Given the description of an element on the screen output the (x, y) to click on. 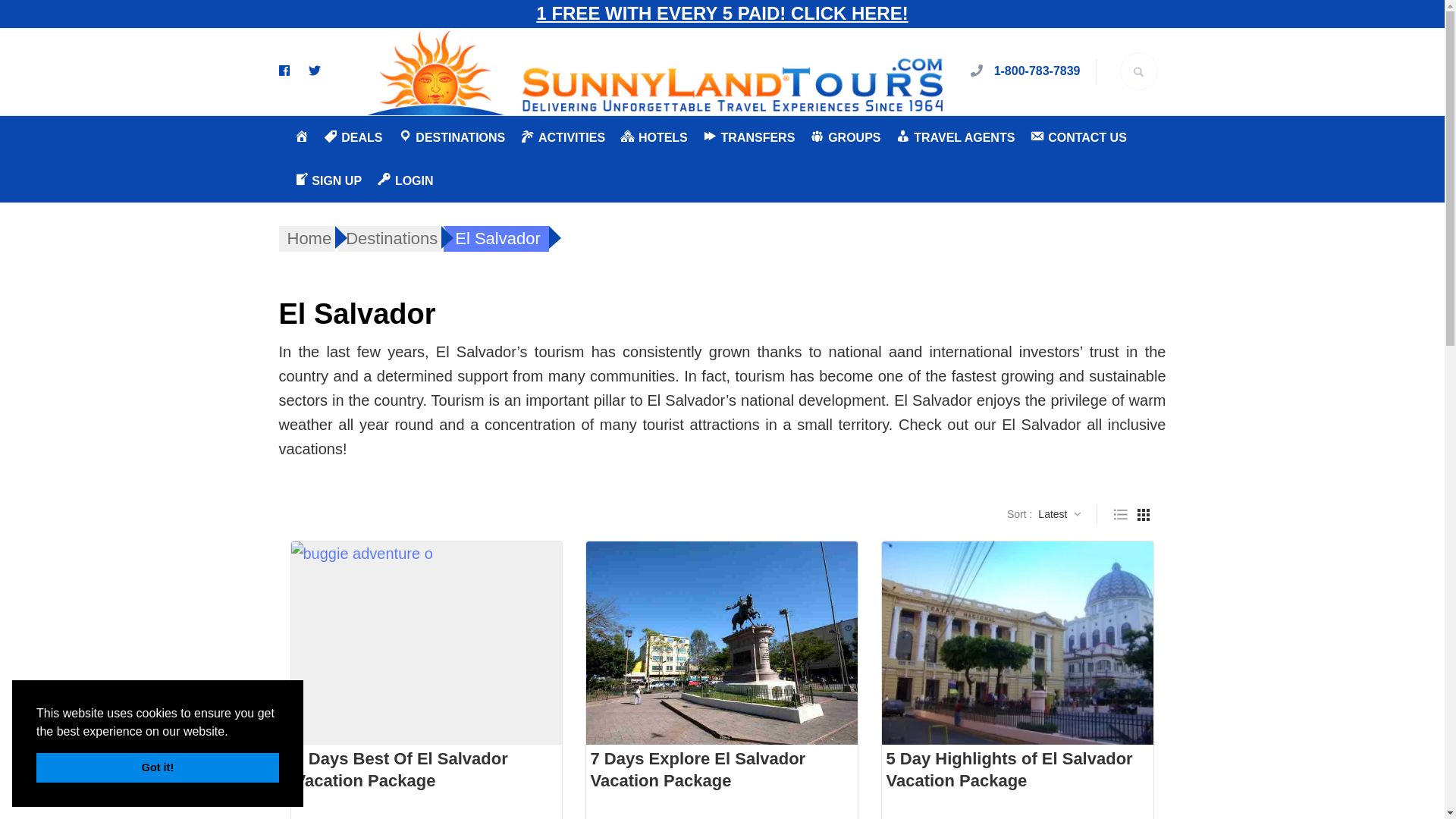
TRANSFERS (748, 137)
Got it! (157, 767)
El Salvador (496, 238)
1-800-783-7839 (1037, 70)
DESTINATIONS (451, 137)
Destinations (389, 238)
LOGIN (404, 180)
DEALS (352, 137)
ACTIVITIES (562, 137)
TRAVEL AGENTS (954, 137)
GROUPS (844, 137)
HOME (301, 137)
HOTELS (653, 137)
1 FREE WITH EVERY 5 PAID! CLICK HERE! (721, 13)
CONTACT US (1077, 137)
